Given the description of an element on the screen output the (x, y) to click on. 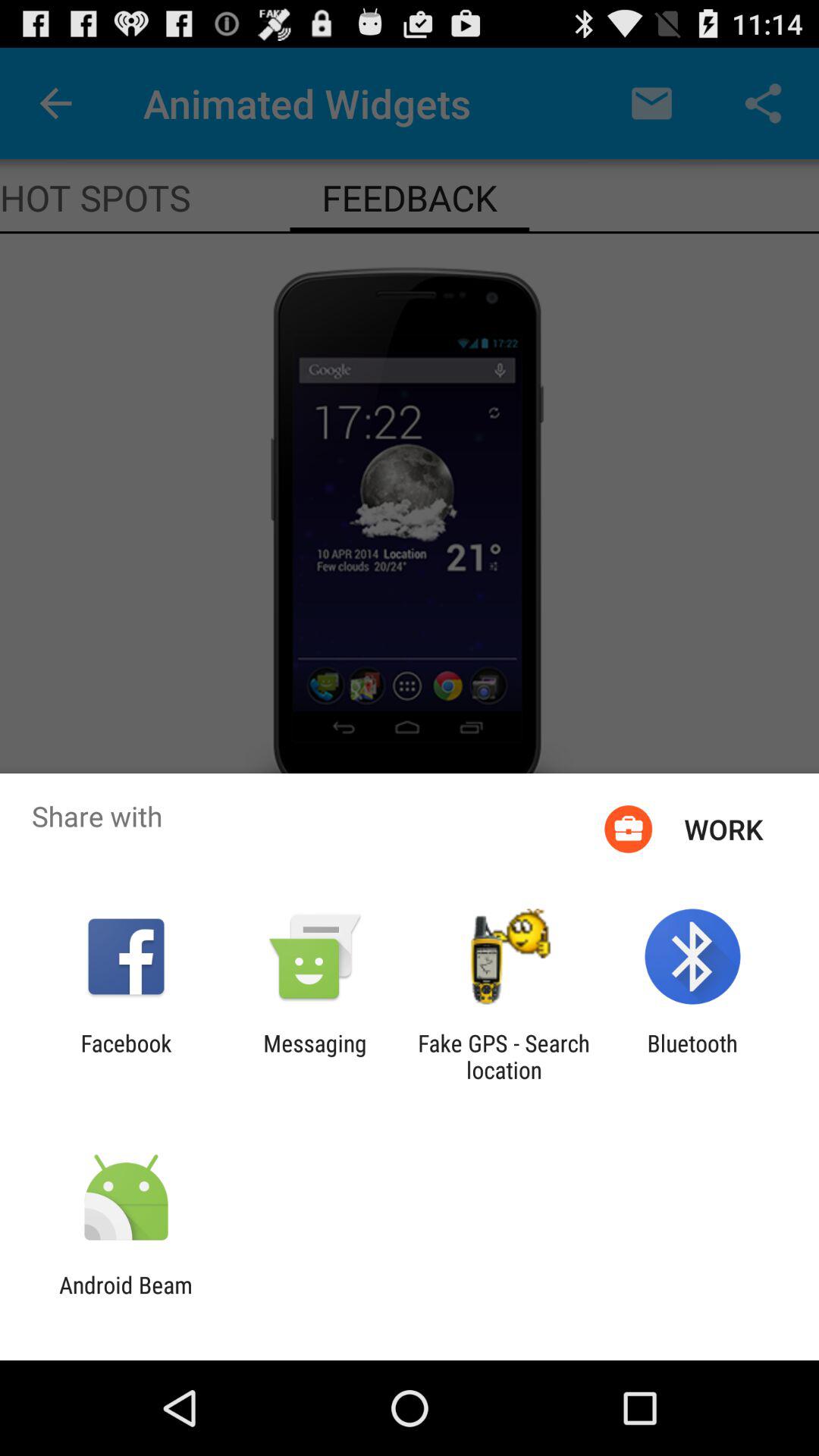
open facebook icon (125, 1056)
